Given the description of an element on the screen output the (x, y) to click on. 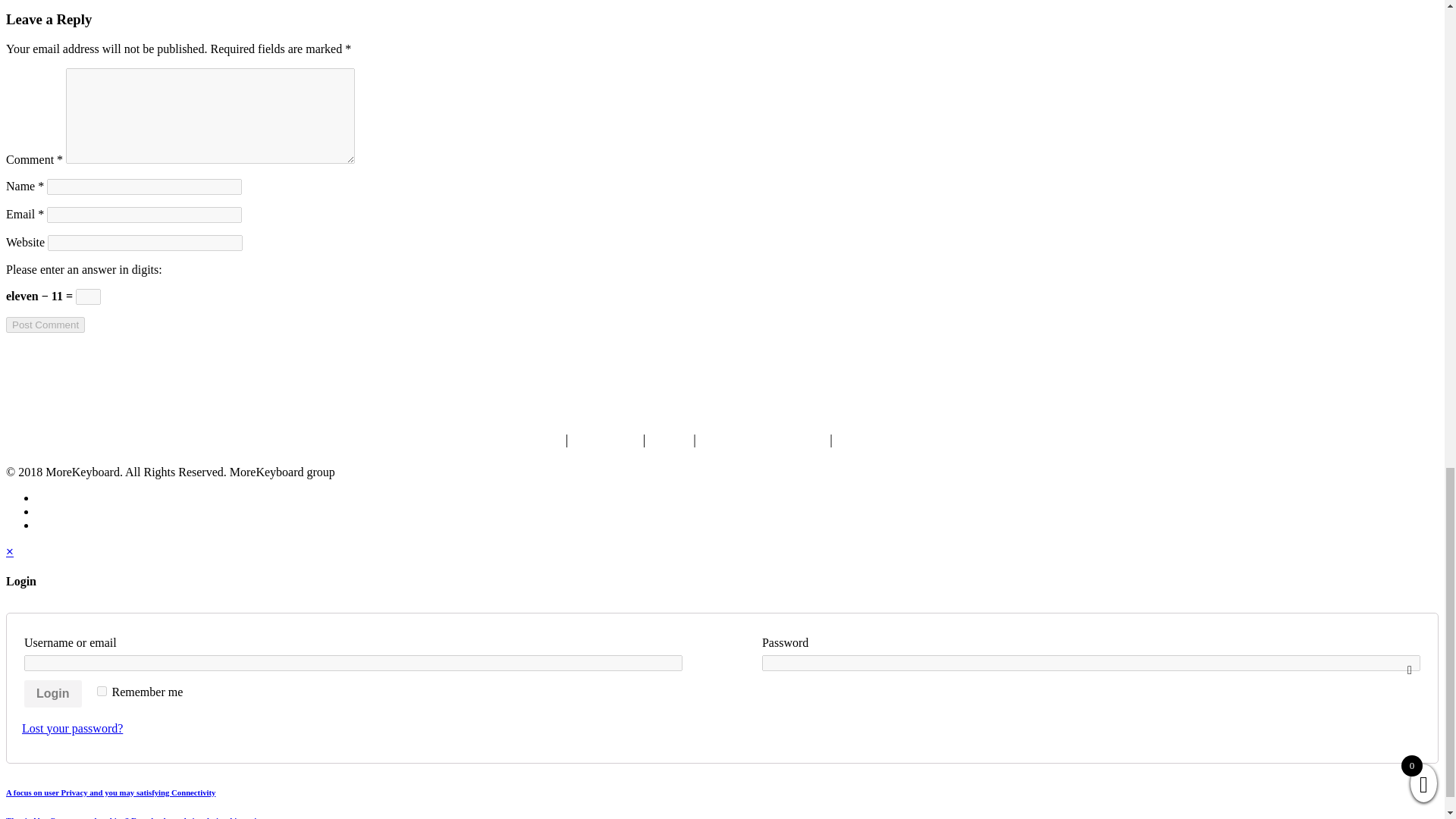
Home (542, 439)
Terms and Agreement (761, 439)
forever (101, 691)
Contact Us (605, 439)
Lost your password? (71, 727)
Post Comment (44, 324)
Post Comment (44, 324)
Login (52, 693)
FAQS (668, 439)
Privacy Policy (880, 439)
